Given the description of an element on the screen output the (x, y) to click on. 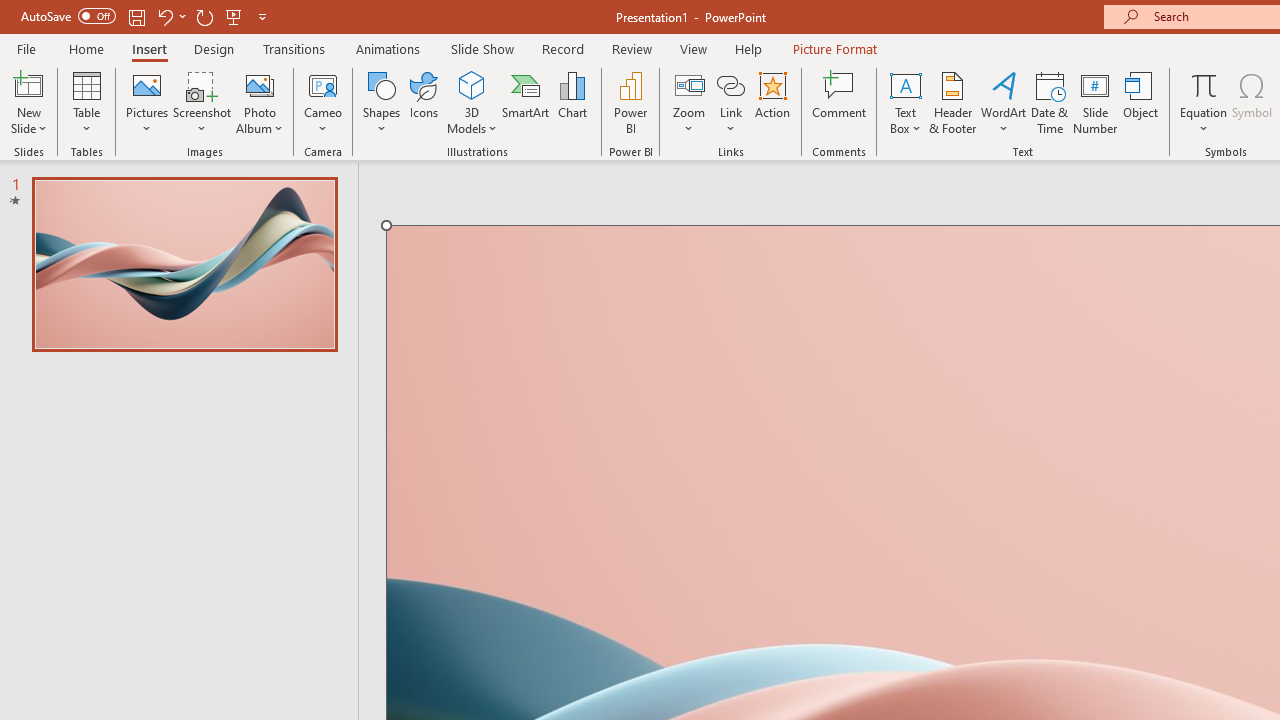
Icons (424, 102)
3D Models (472, 102)
Equation (1203, 102)
Equation (1203, 84)
Object... (1141, 102)
New Photo Album... (259, 84)
Slide Number (1095, 102)
